Given the description of an element on the screen output the (x, y) to click on. 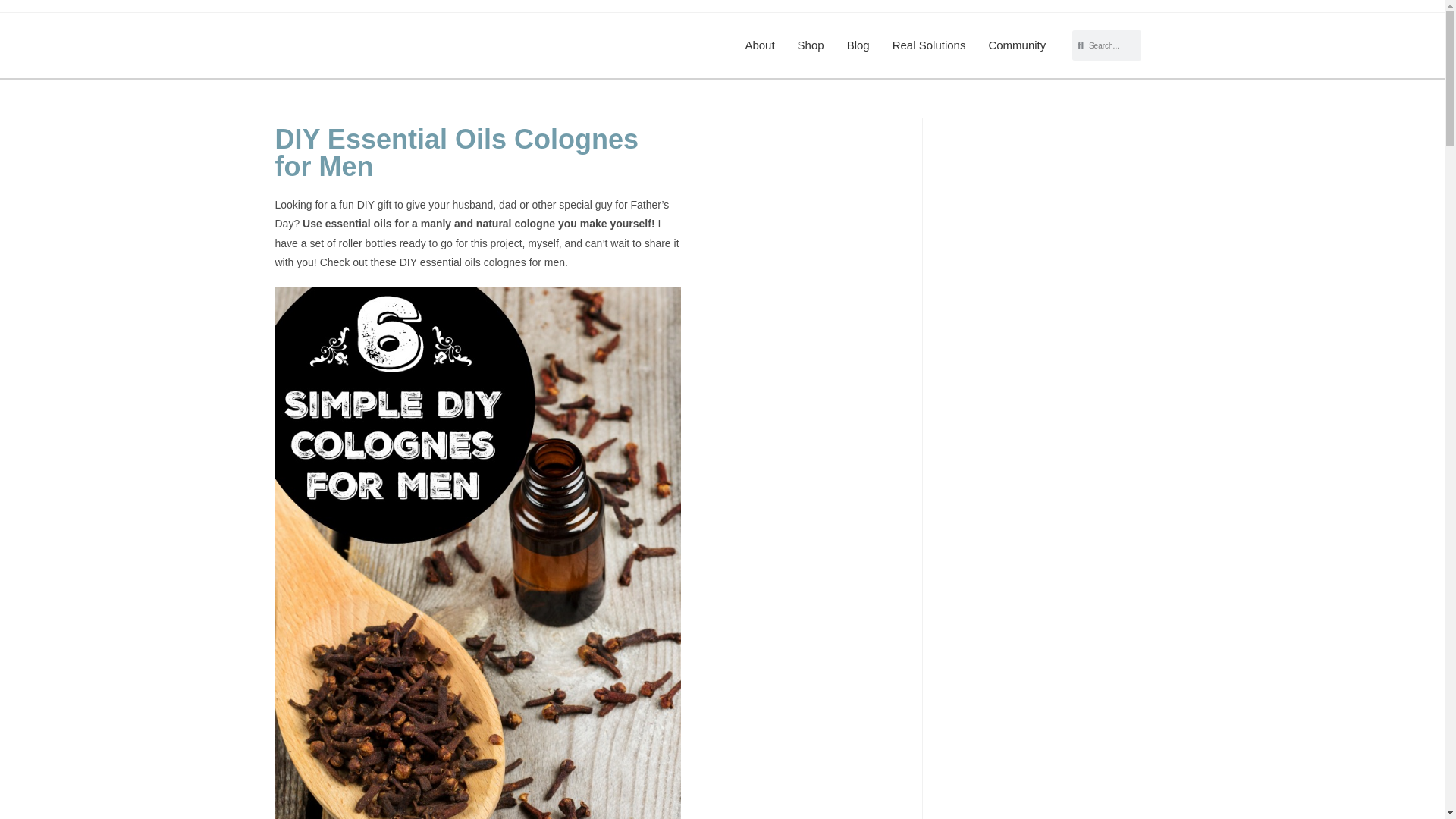
Shop (810, 45)
About (759, 45)
Real Solutions (928, 45)
Community (1016, 45)
Blog (857, 45)
